Given the description of an element on the screen output the (x, y) to click on. 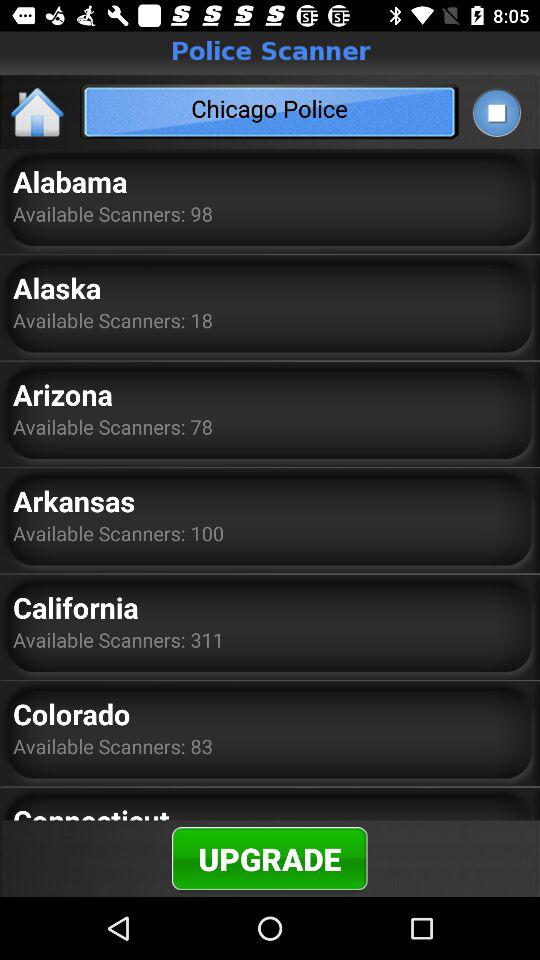
choose the app next to the chicago police icon (496, 111)
